Given the description of an element on the screen output the (x, y) to click on. 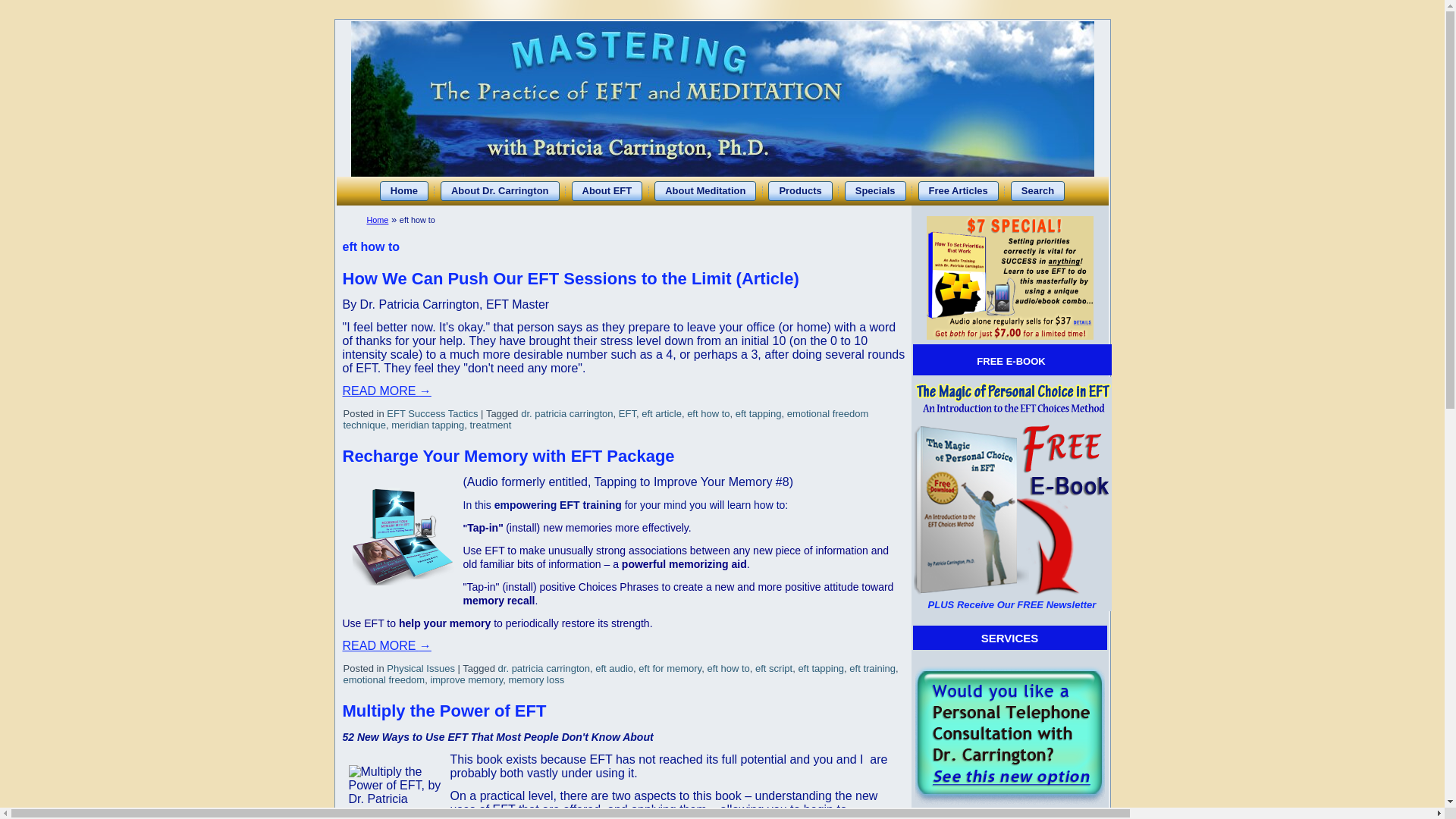
About EFT (607, 190)
Home (404, 190)
Home (404, 190)
Home (377, 219)
About EFT (607, 190)
About Meditation (704, 190)
About Dr. Carrington (500, 190)
Search (1037, 190)
Free Articles (957, 190)
About Dr. Carrington (500, 190)
